Given the description of an element on the screen output the (x, y) to click on. 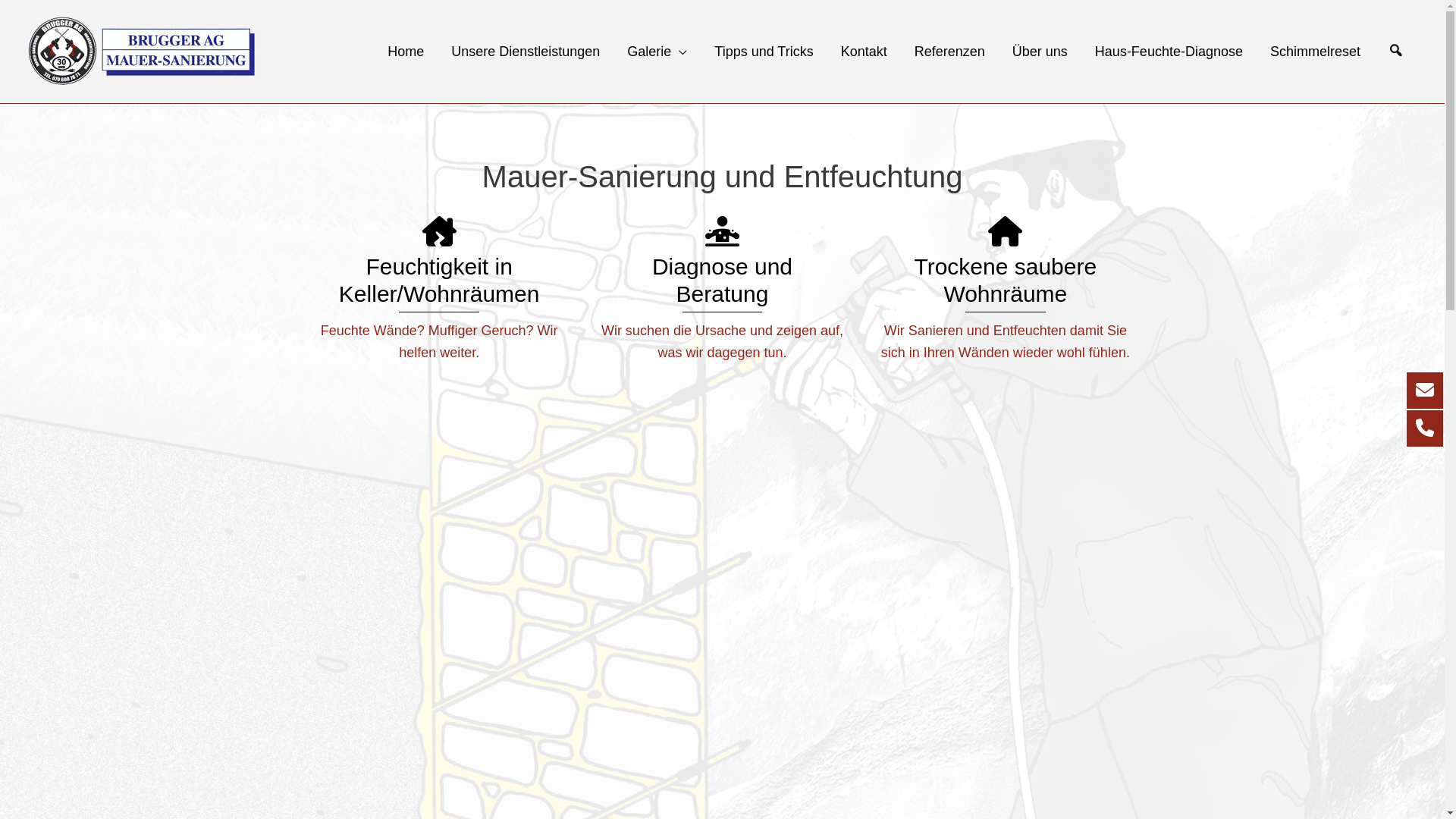
Tipps und Tricks Element type: text (763, 51)
Suchen Element type: text (1396, 51)
Referenzen Element type: text (949, 51)
Schimmelreset Element type: text (1315, 51)
Home Element type: text (405, 51)
Galerie Element type: text (656, 51)
Unsere Dienstleistungen Element type: text (525, 51)
Kontakt Element type: text (863, 51)
Haus-Feuchte-Diagnose Element type: text (1168, 51)
